Given the description of an element on the screen output the (x, y) to click on. 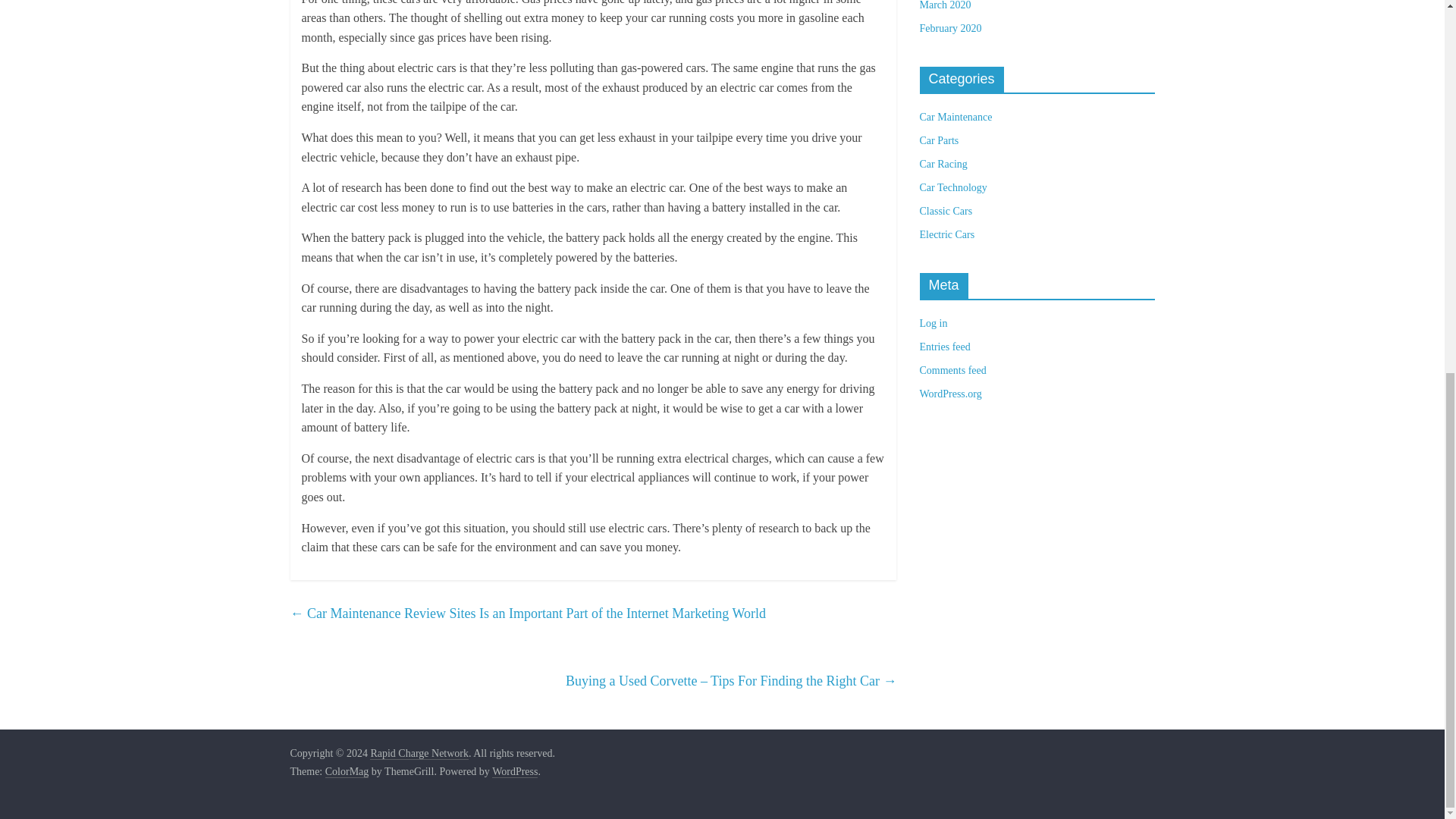
Electric Cars (946, 234)
Car Parts (938, 140)
February 2020 (949, 28)
Classic Cars (945, 211)
Rapid Charge Network (418, 753)
ColorMag (346, 771)
March 2020 (944, 5)
Log in (932, 323)
Car Technology (952, 187)
ColorMag (346, 771)
WordPress (514, 771)
Car Maintenance (954, 116)
WordPress (514, 771)
Comments feed (951, 369)
Rapid Charge Network (418, 753)
